Given the description of an element on the screen output the (x, y) to click on. 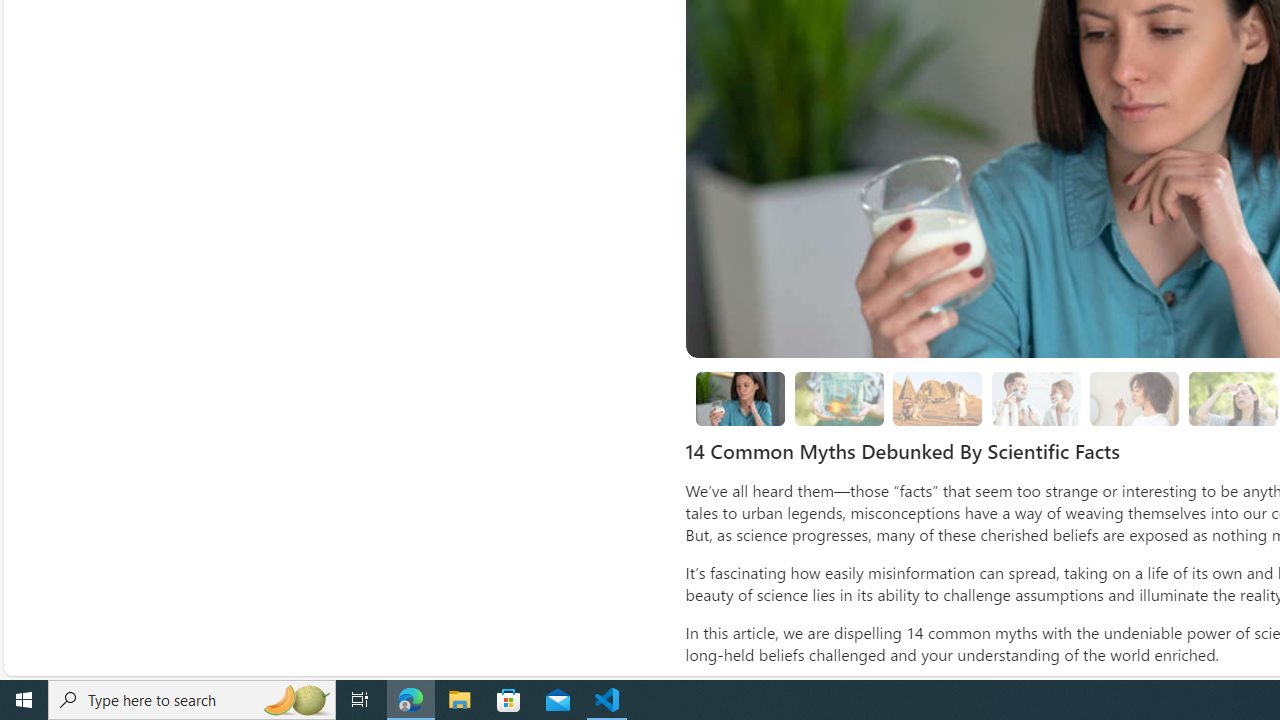
1. Dry Mouth (1135, 399)
14 Common Myths Debunked By Scientific Facts (740, 398)
1. Disposable Razors (1035, 398)
14 Common Myths Debunked By Scientific Facts (740, 399)
1. Disposable Razors (1035, 399)
Class: progress (1134, 394)
3. Extreme Heat and Humidity (1232, 399)
1. Dry Mouth (1134, 398)
